Given the description of an element on the screen output the (x, y) to click on. 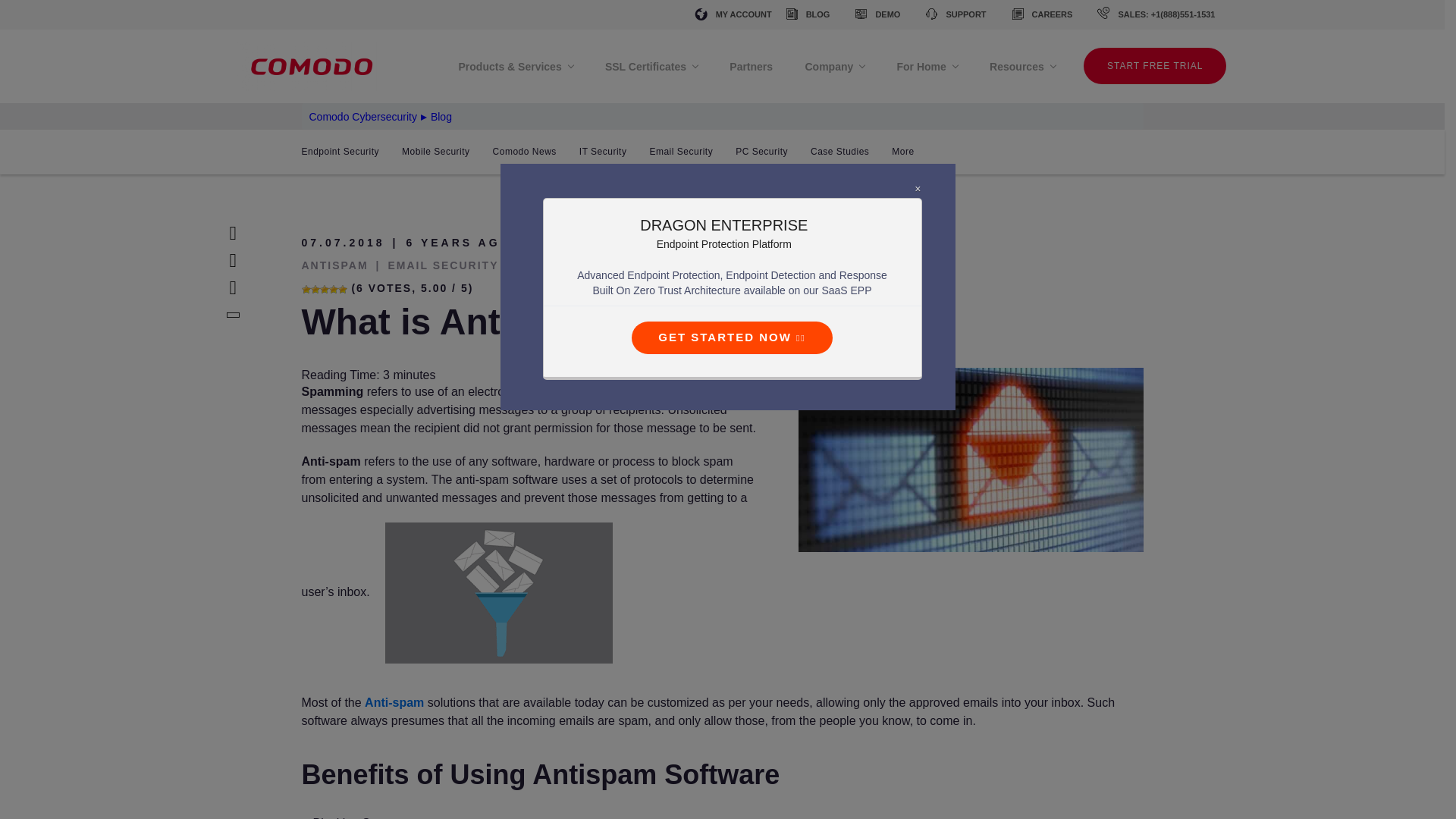
2 Stars (315, 289)
SSL Certificates (651, 66)
3 Stars (324, 289)
5 Stars (342, 289)
BLOG (806, 14)
SUPPORT (954, 14)
4 Stars (333, 289)
DEMO (876, 14)
1 Star (306, 289)
CAREERS (1040, 14)
Comodo (313, 66)
